Given the description of an element on the screen output the (x, y) to click on. 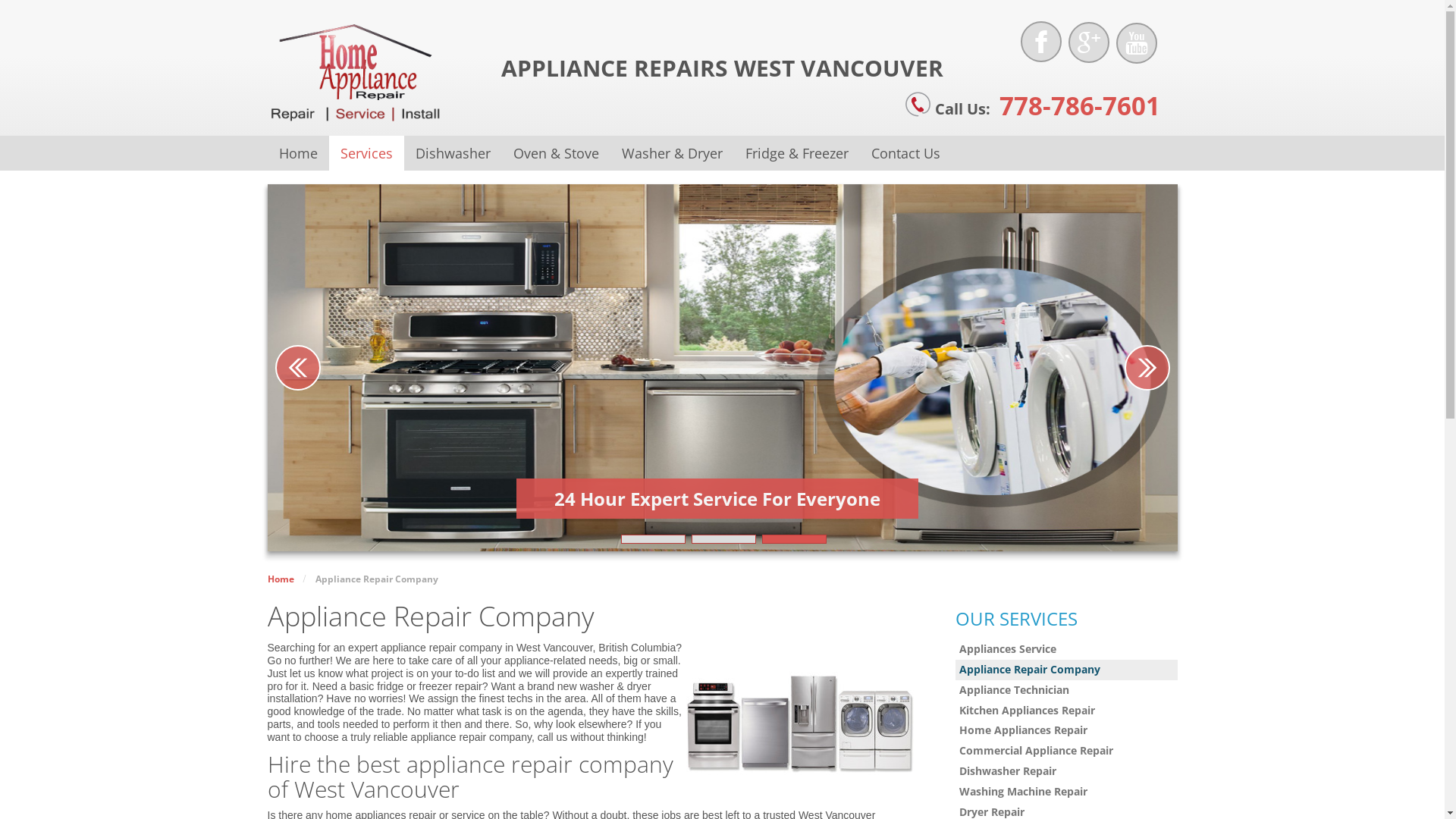
Appliance Repair Company Element type: text (1066, 669)
Dishwasher Element type: text (452, 152)
Kitchen Appliances Repair Element type: text (1066, 710)
Commercial Appliance Repair Element type: text (1066, 750)
Contact Us Element type: text (905, 152)
Appliance Technician Element type: text (1066, 690)
Oven & Stove Element type: text (556, 152)
Home Appliances Repair Element type: text (1066, 730)
Services Element type: text (366, 152)
Washing Machine Repair Element type: text (1066, 791)
Home Element type: text (279, 578)
Washer & Dryer Element type: text (671, 152)
Appliances Service Element type: text (1066, 649)
Fridge & Freezer Element type: text (796, 152)
Home Element type: text (297, 152)
Dishwasher Repair Element type: text (1066, 771)
